Given the description of an element on the screen output the (x, y) to click on. 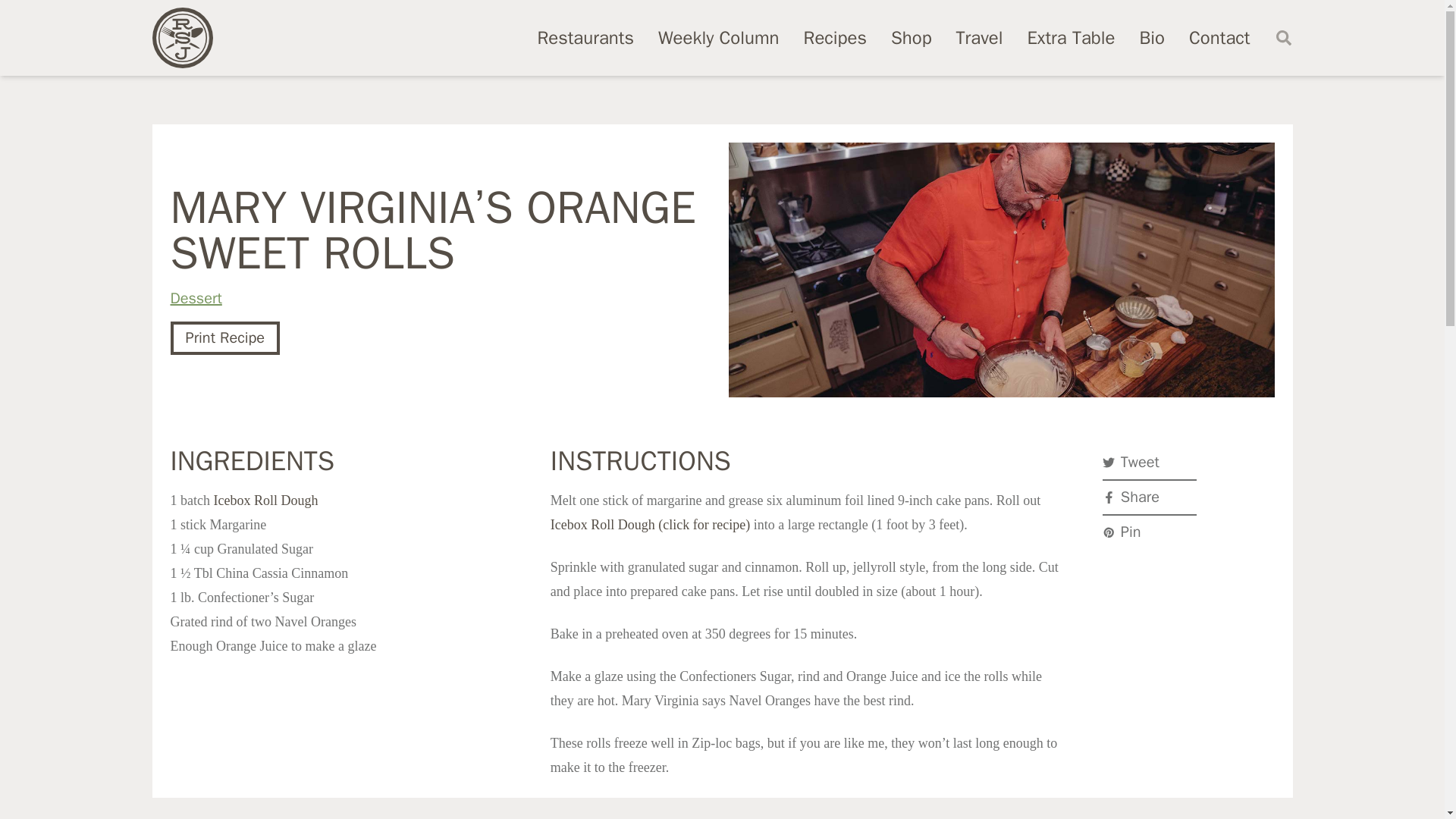
Print Recipe (224, 337)
Dessert (195, 298)
Shop (911, 37)
Bio (1151, 37)
Recipes (834, 37)
Extra Table (1070, 37)
Weekly Column (718, 37)
Pin (1149, 531)
Icebox Roll Dough (264, 500)
Share (1149, 497)
